Given the description of an element on the screen output the (x, y) to click on. 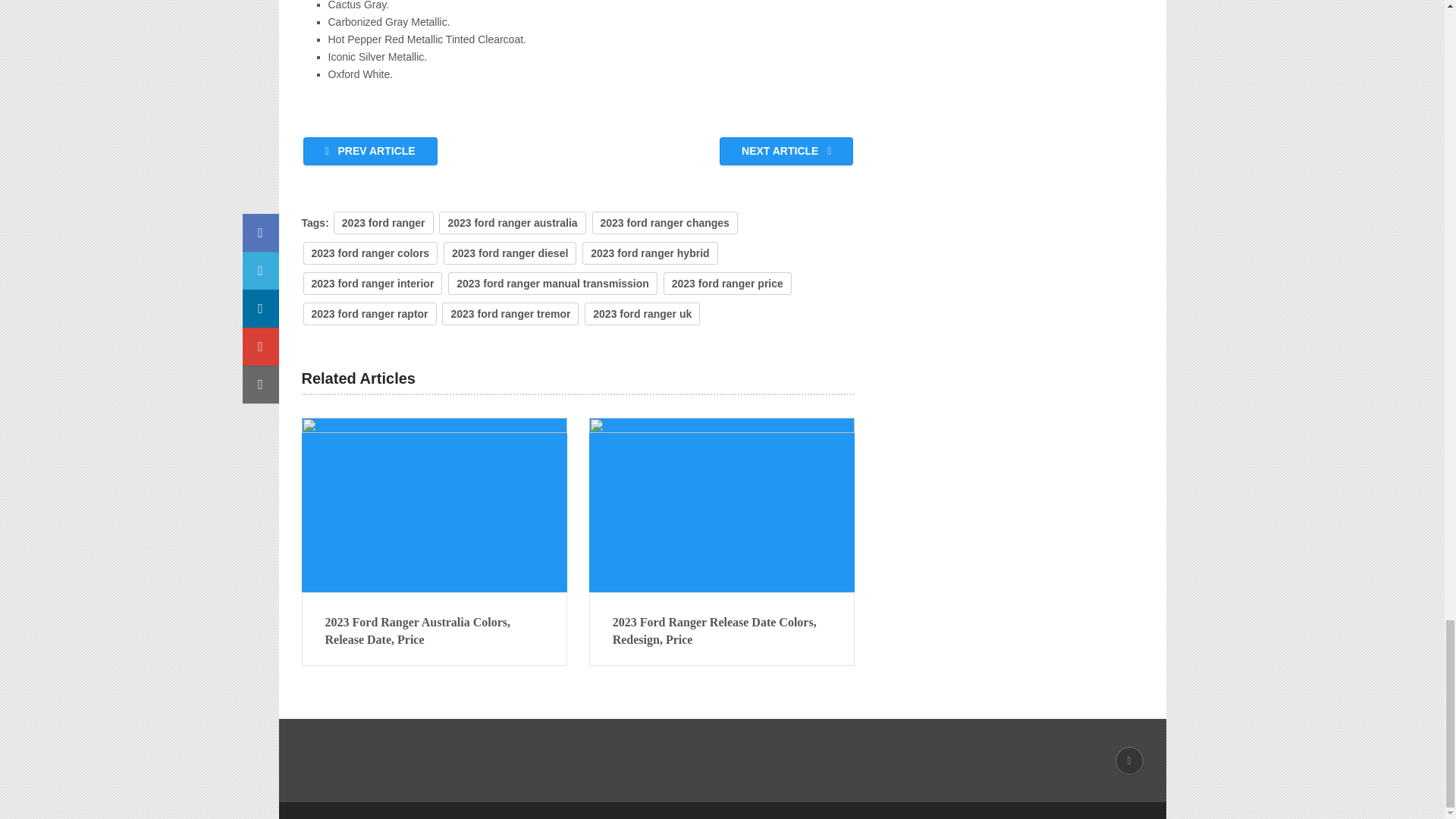
2023 Ford Ranger Australia Colors, Release Date, Price (434, 504)
2023 Ford Ranger Release Date Colors, Redesign, Price (721, 631)
2023 Ford Ranger Release Date Colors, Redesign, Price (721, 504)
2023 Ford Ranger Australia Colors, Release Date, Price (433, 631)
